Given the description of an element on the screen output the (x, y) to click on. 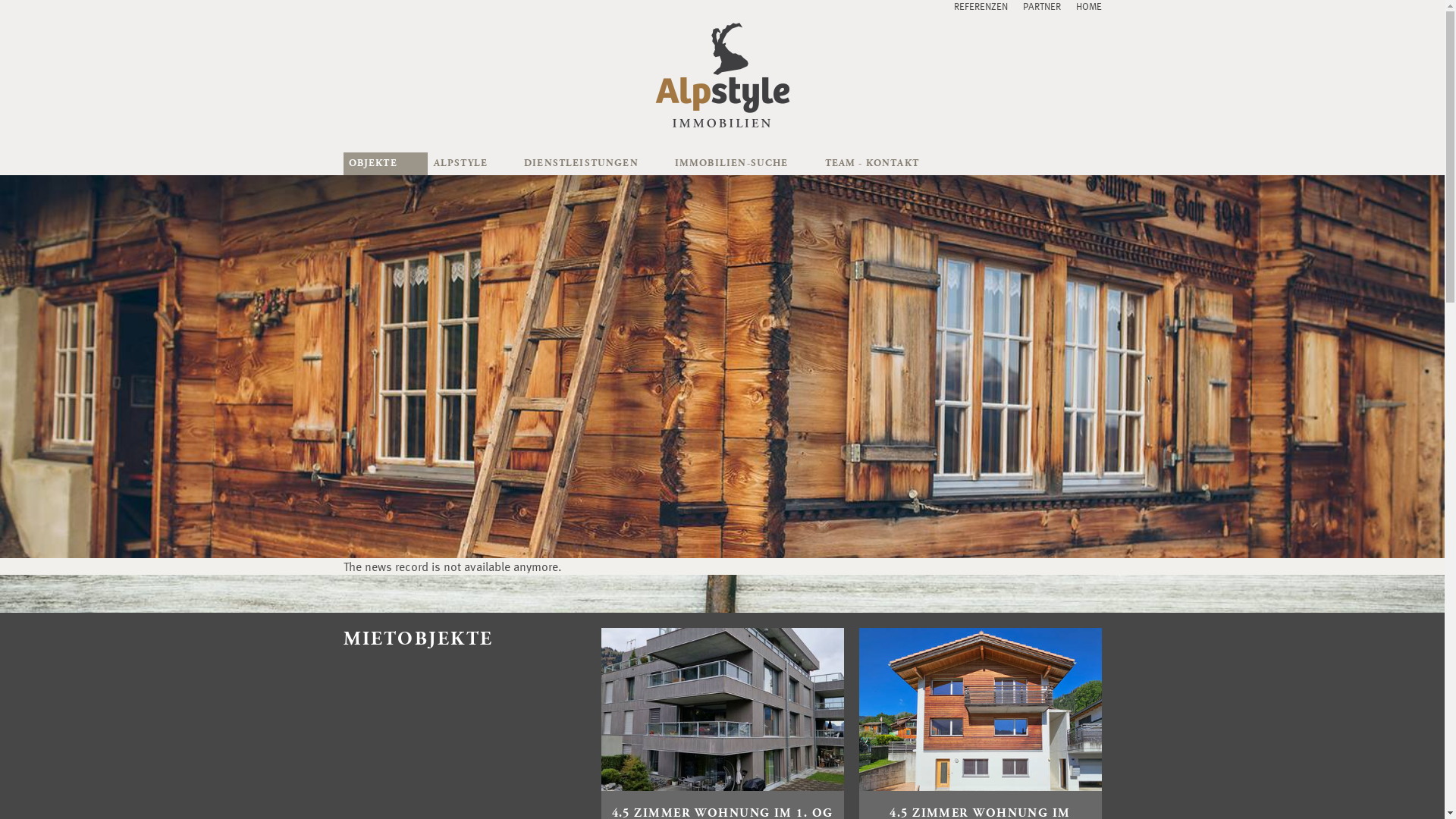
HOME Element type: text (1088, 6)
DIENSTLEISTUNGEN Element type: text (593, 163)
REFERENZEN Element type: text (980, 6)
PARTNER Element type: text (1041, 6)
OBJEKTE Element type: text (384, 163)
Home Element type: text (721, 76)
IMMOBILIEN-SUCHE Element type: text (744, 163)
ALPSTYLE Element type: text (472, 163)
TEAM - KONTAKT Element type: text (884, 163)
